Given the description of an element on the screen output the (x, y) to click on. 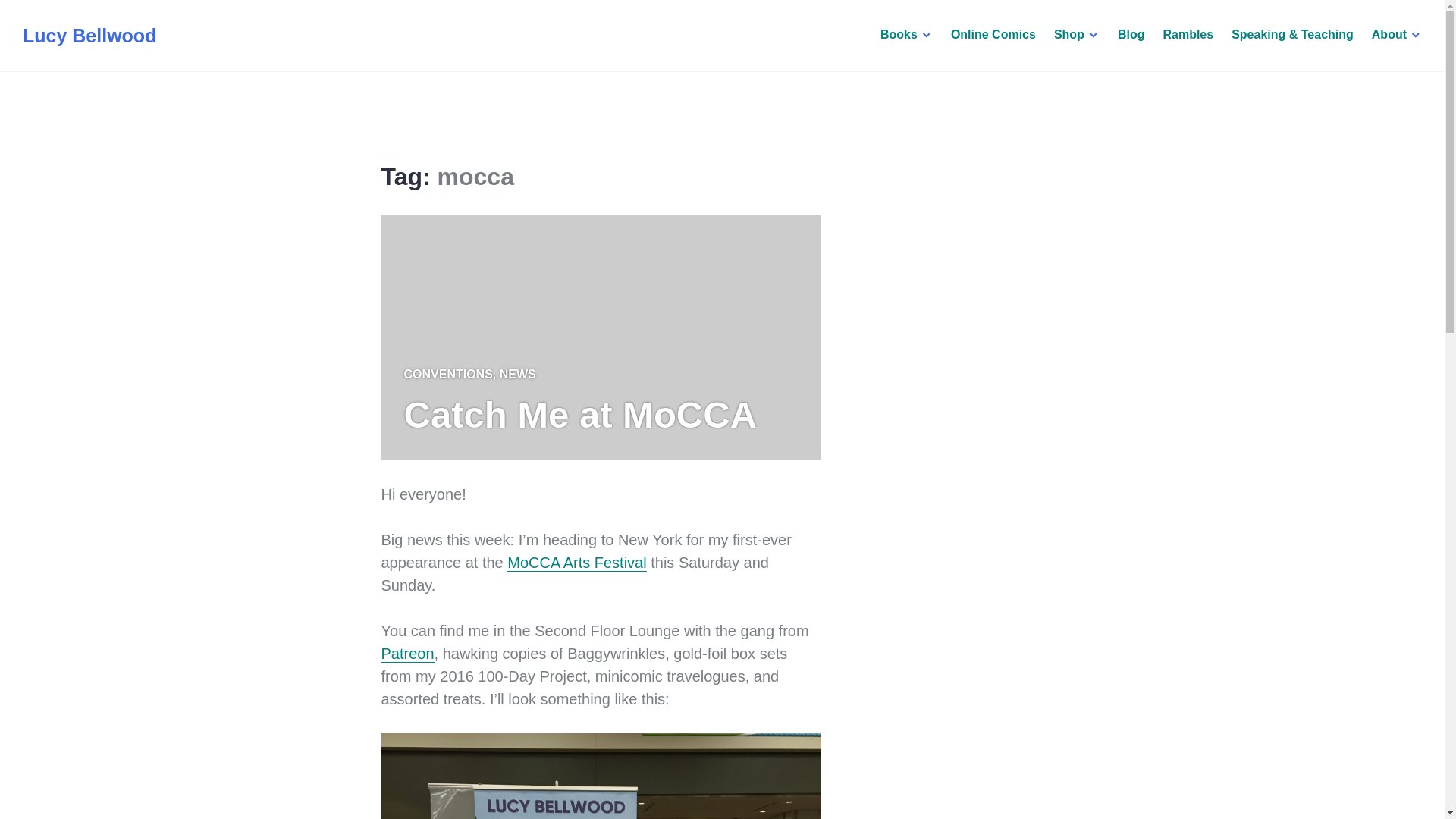
Rambles (1186, 35)
About (1396, 35)
Books (906, 35)
Shop (1076, 35)
Lucy Bellwood (89, 35)
MoCCA Arts Festival (576, 561)
Blog (1131, 35)
CONVENTIONS (447, 373)
NEWS (517, 373)
Online Comics (992, 35)
